Given the description of an element on the screen output the (x, y) to click on. 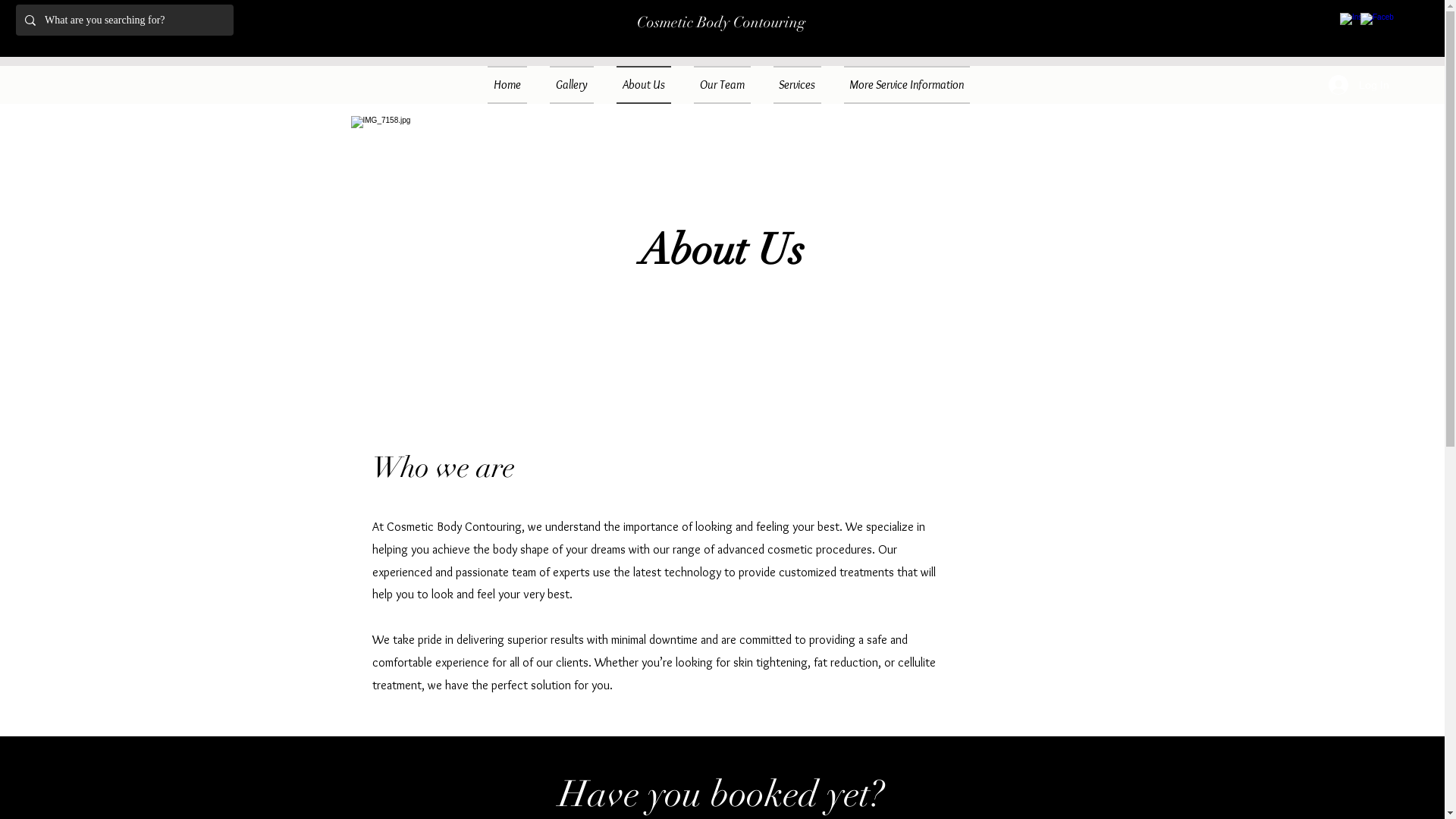
Home Element type: text (512, 84)
Our Team Element type: text (722, 84)
About Us Element type: text (643, 84)
Gallery Element type: text (571, 84)
More Service Information Element type: text (900, 84)
Services Element type: text (797, 84)
Log In Element type: text (1357, 84)
